Given the description of an element on the screen output the (x, y) to click on. 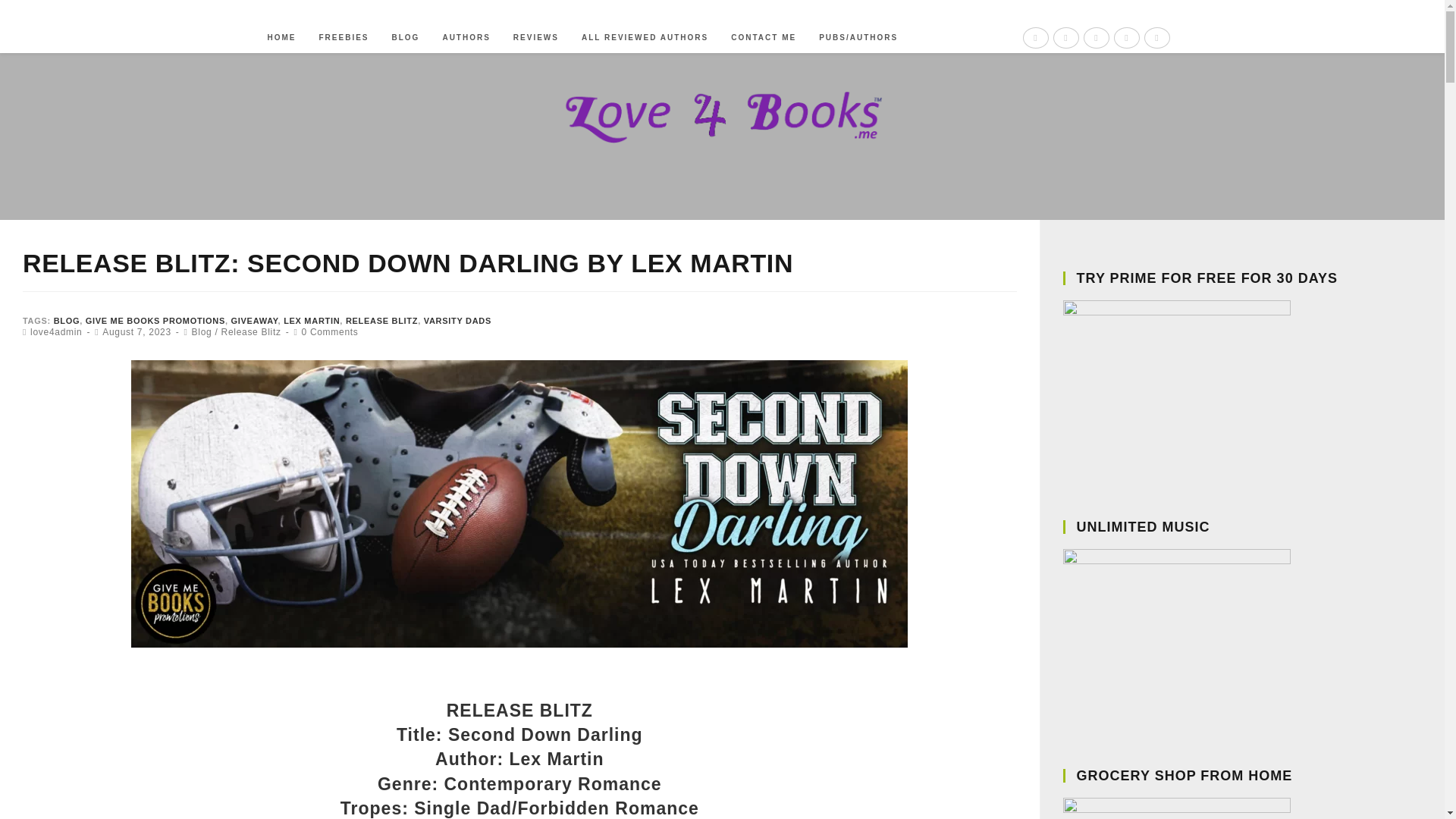
HOME (281, 37)
CONTACT ME (763, 37)
ALL REVIEWED AUTHORS (644, 37)
REVIEWS (536, 37)
AUTHORS (465, 37)
BLOG (405, 37)
FREEBIES (343, 37)
Posts by love4admin (55, 331)
